Given the description of an element on the screen output the (x, y) to click on. 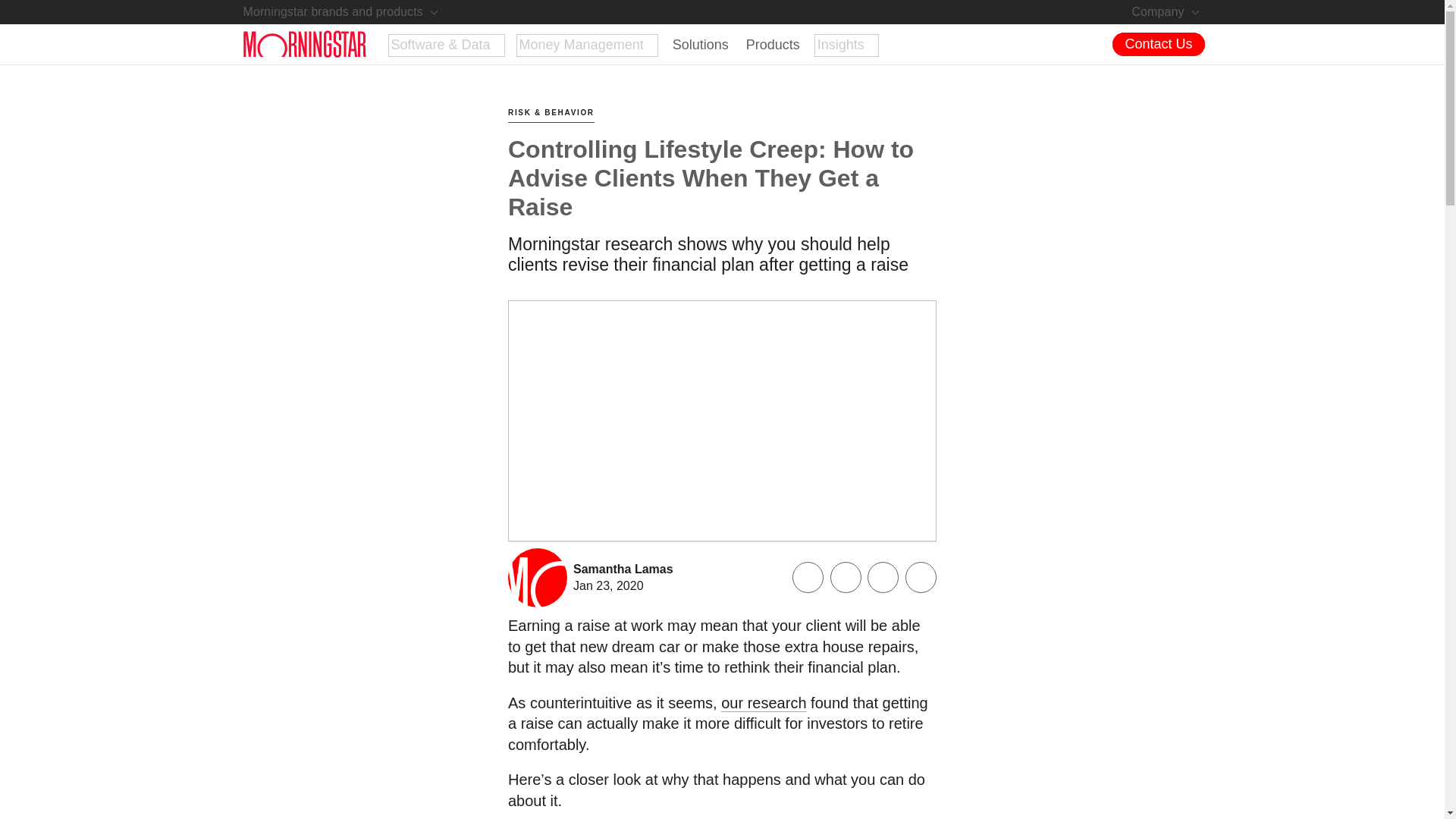
Morningstar brands and products (341, 12)
Skip to Content (41, 8)
Company (1166, 12)
